Given the description of an element on the screen output the (x, y) to click on. 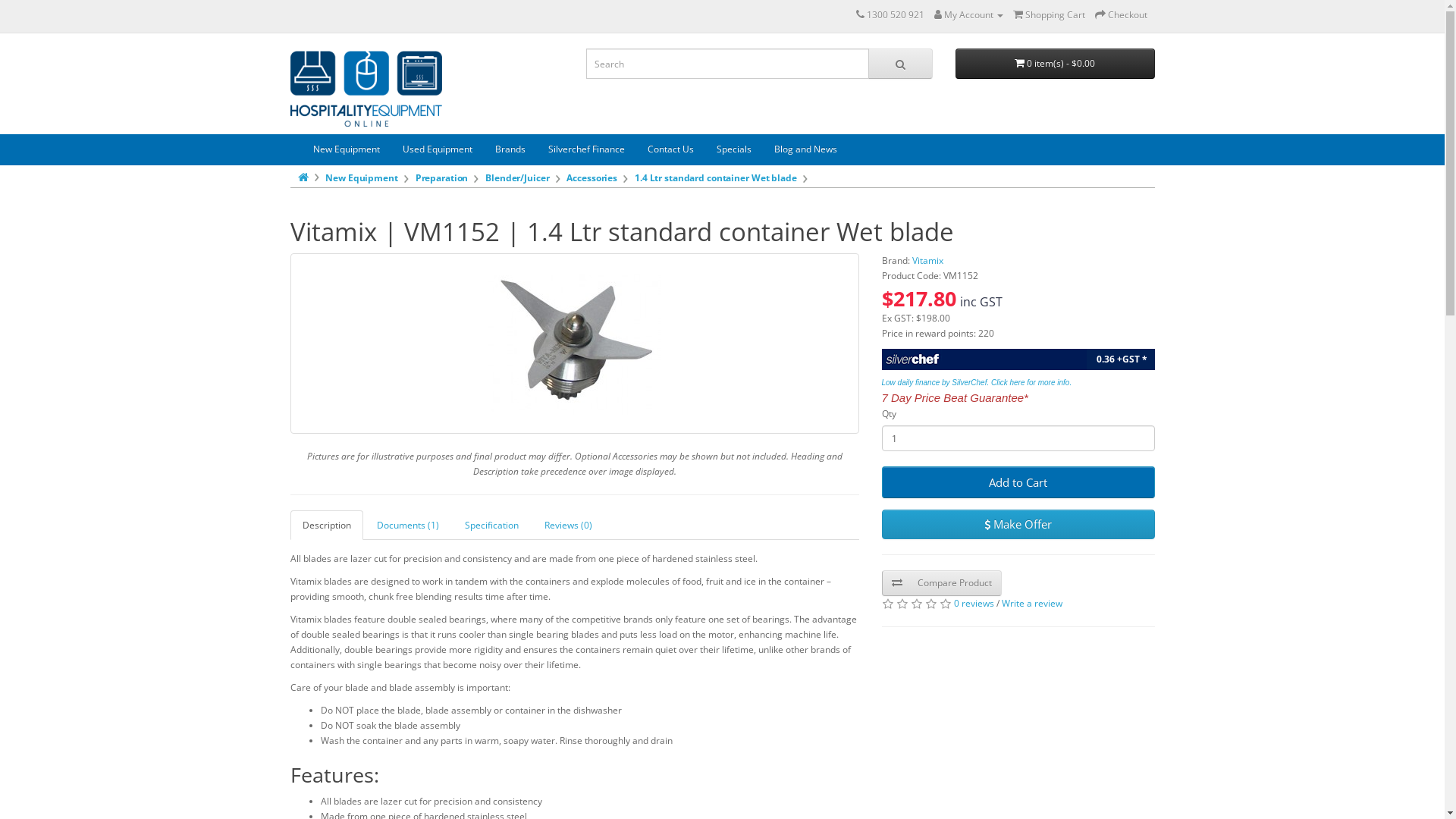
Used Equipment Element type: text (437, 149)
Low daily finance by SilverChef. Click here for more info. Element type: text (976, 381)
Contact Us Element type: text (669, 149)
1.4 Ltr standard container Wet blade Element type: hover (573, 343)
Compare Product Element type: text (941, 583)
Add to Cart Element type: text (1017, 482)
7 Day Price Beat Guarantee* Element type: text (954, 398)
0 item(s) - $0.00 Element type: text (1054, 63)
0 reviews Element type: text (973, 602)
Specials Element type: text (733, 149)
New Equipment Element type: text (346, 149)
Accessories Element type: text (591, 177)
Silverchef Finance Element type: text (586, 149)
Make Offer Element type: text (1017, 523)
Description Element type: text (325, 524)
Blog and News Element type: text (805, 149)
My Account Element type: text (968, 14)
Brands Element type: text (509, 149)
1.4 Ltr standard container Wet blade Element type: hover (574, 343)
Blender/Juicer Element type: text (517, 177)
New Equipment Element type: text (361, 177)
Write a review Element type: text (1031, 602)
Specification Element type: text (490, 524)
Reviews (0) Element type: text (568, 524)
Shopping Cart Element type: text (1049, 14)
Hospitality Equipment Online Element type: hover (365, 87)
Documents (1) Element type: text (407, 524)
1.4 Ltr standard container Wet blade Element type: text (715, 177)
Vitamix Element type: text (926, 260)
Checkout Element type: text (1121, 14)
Preparation Element type: text (441, 177)
